Given the description of an element on the screen output the (x, y) to click on. 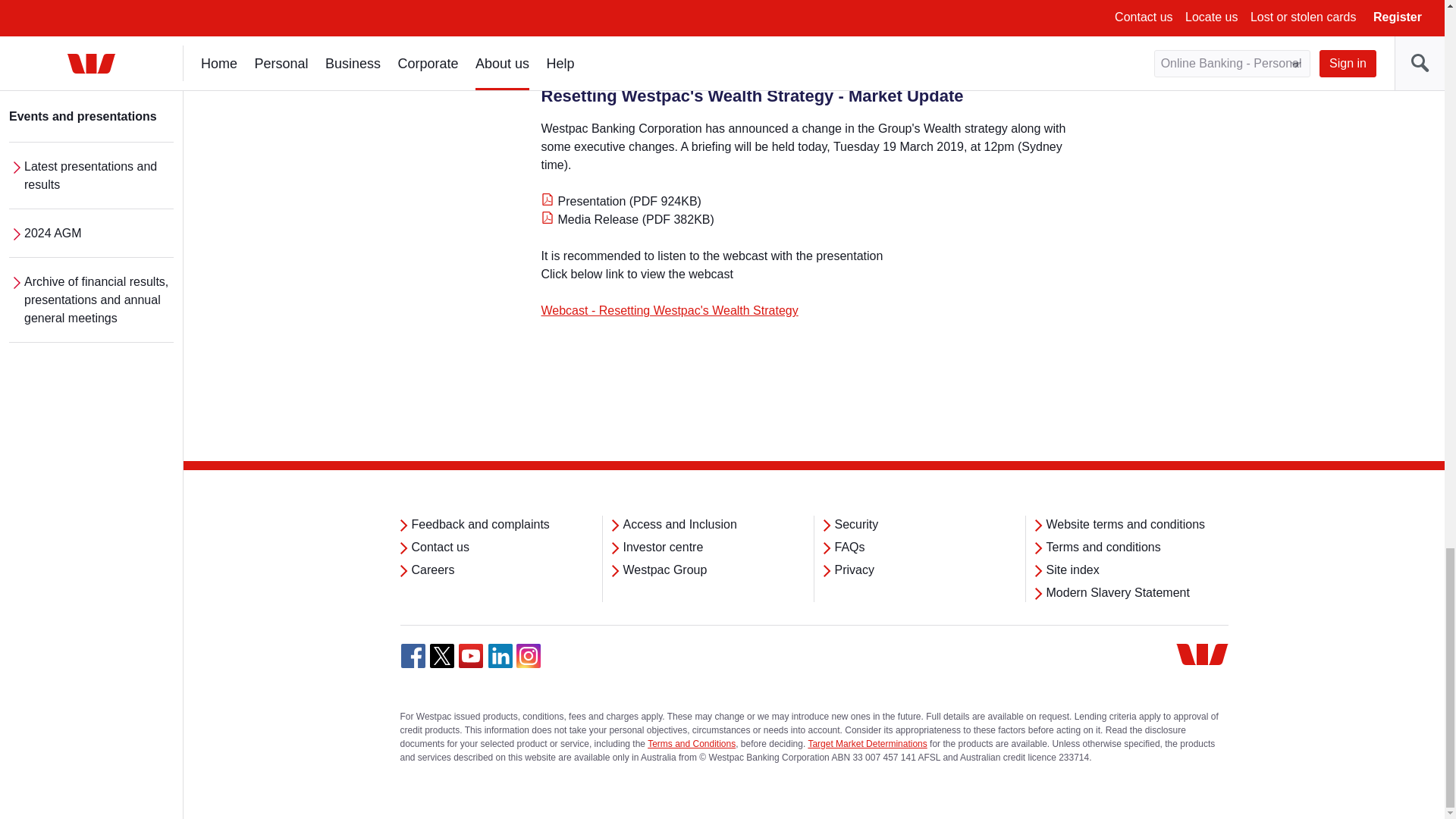
Pdf File (547, 47)
